Given the description of an element on the screen output the (x, y) to click on. 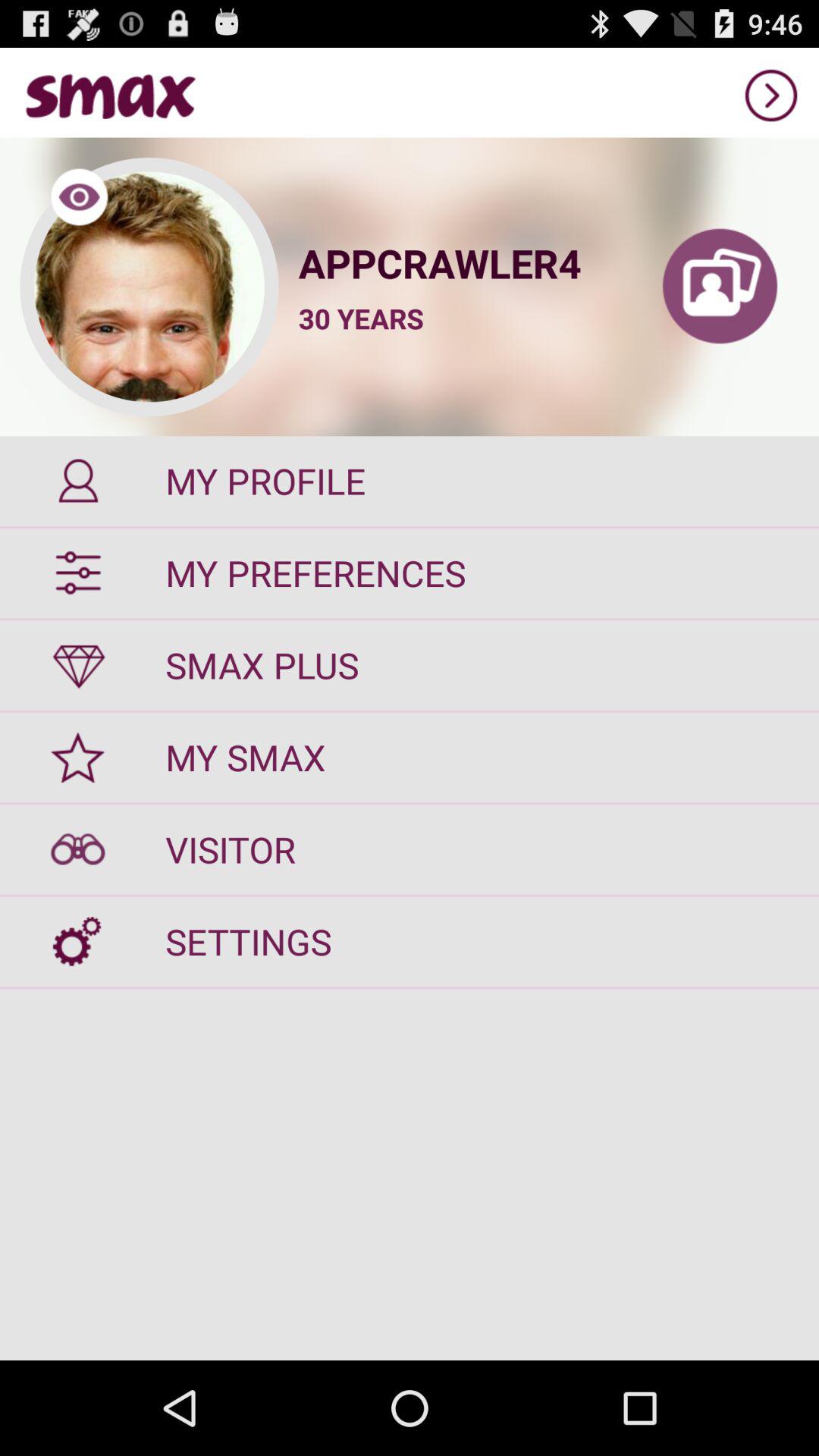
turn on the item below the appcrawler4 item (360, 318)
